Given the description of an element on the screen output the (x, y) to click on. 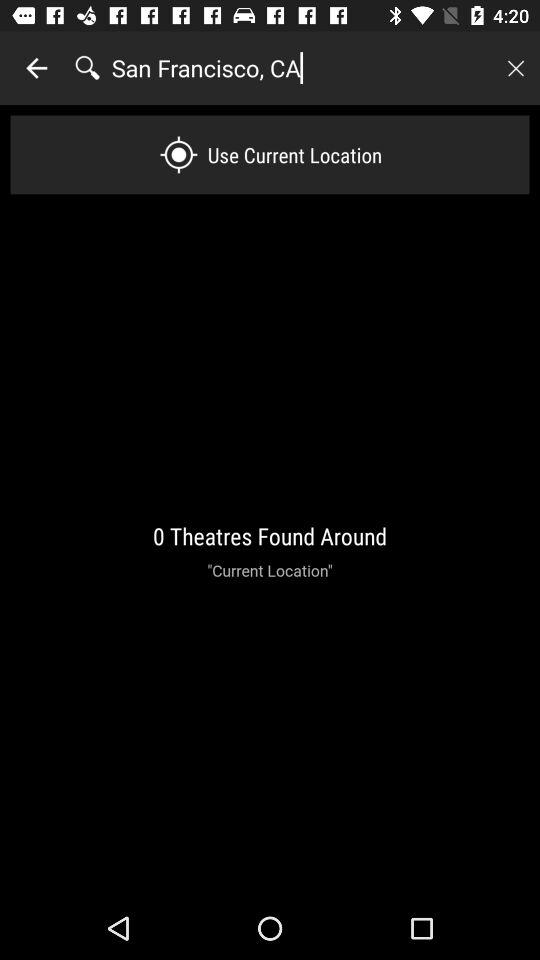
turn off the icon above use current location (301, 67)
